Given the description of an element on the screen output the (x, y) to click on. 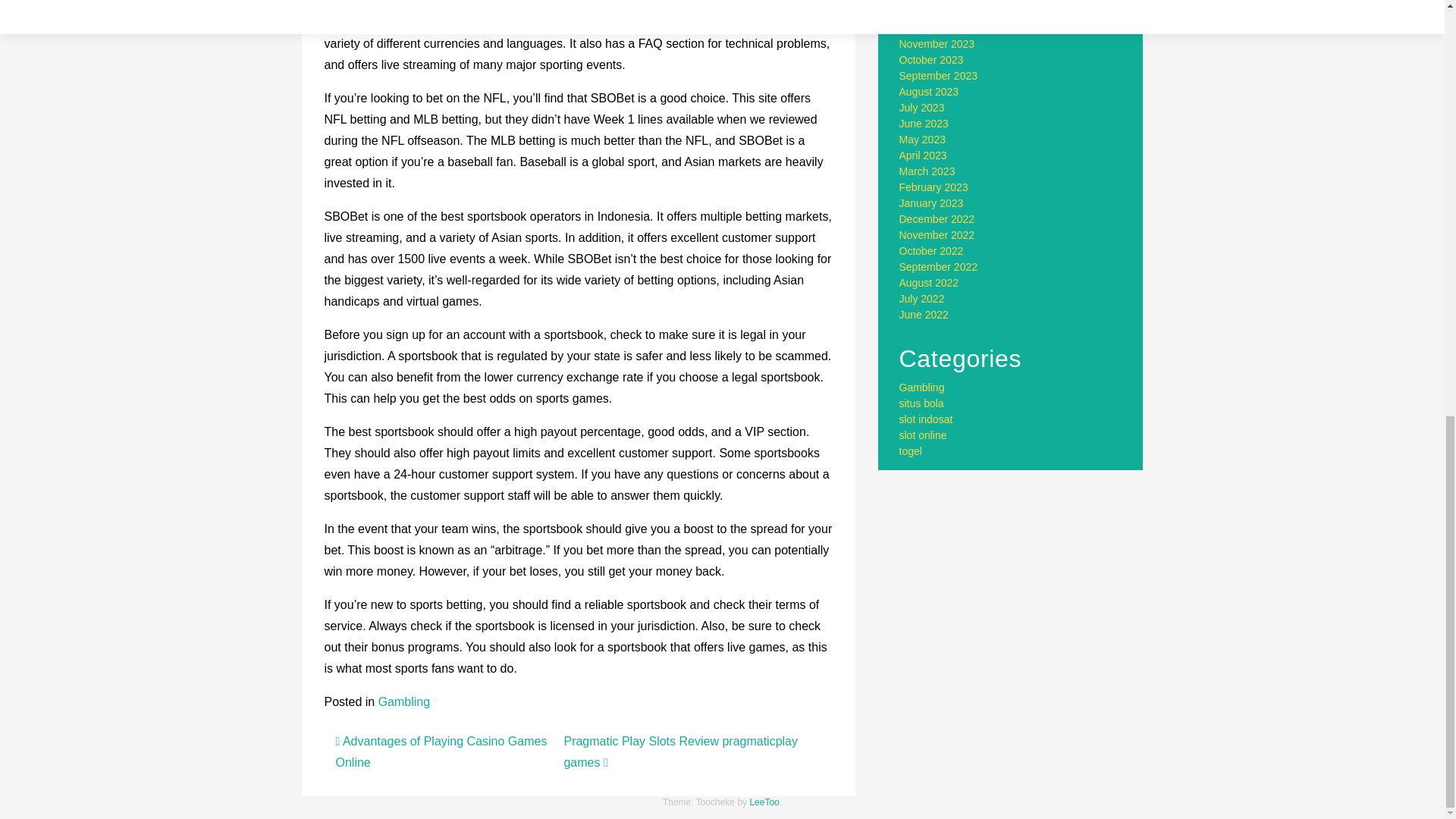
October 2022 (931, 250)
May 2023 (921, 139)
 Advantages of Playing Casino Games Online (440, 751)
Gambling (403, 701)
March 2023 (927, 171)
June 2023 (924, 123)
February 2024 (933, 1)
October 2023 (931, 60)
January 2023 (931, 203)
July 2023 (921, 107)
Pragmatic Play Slots Review pragmaticplay games  (680, 751)
November 2023 (937, 43)
September 2023 (938, 75)
December 2023 (937, 28)
August 2022 (929, 282)
